Given the description of an element on the screen output the (x, y) to click on. 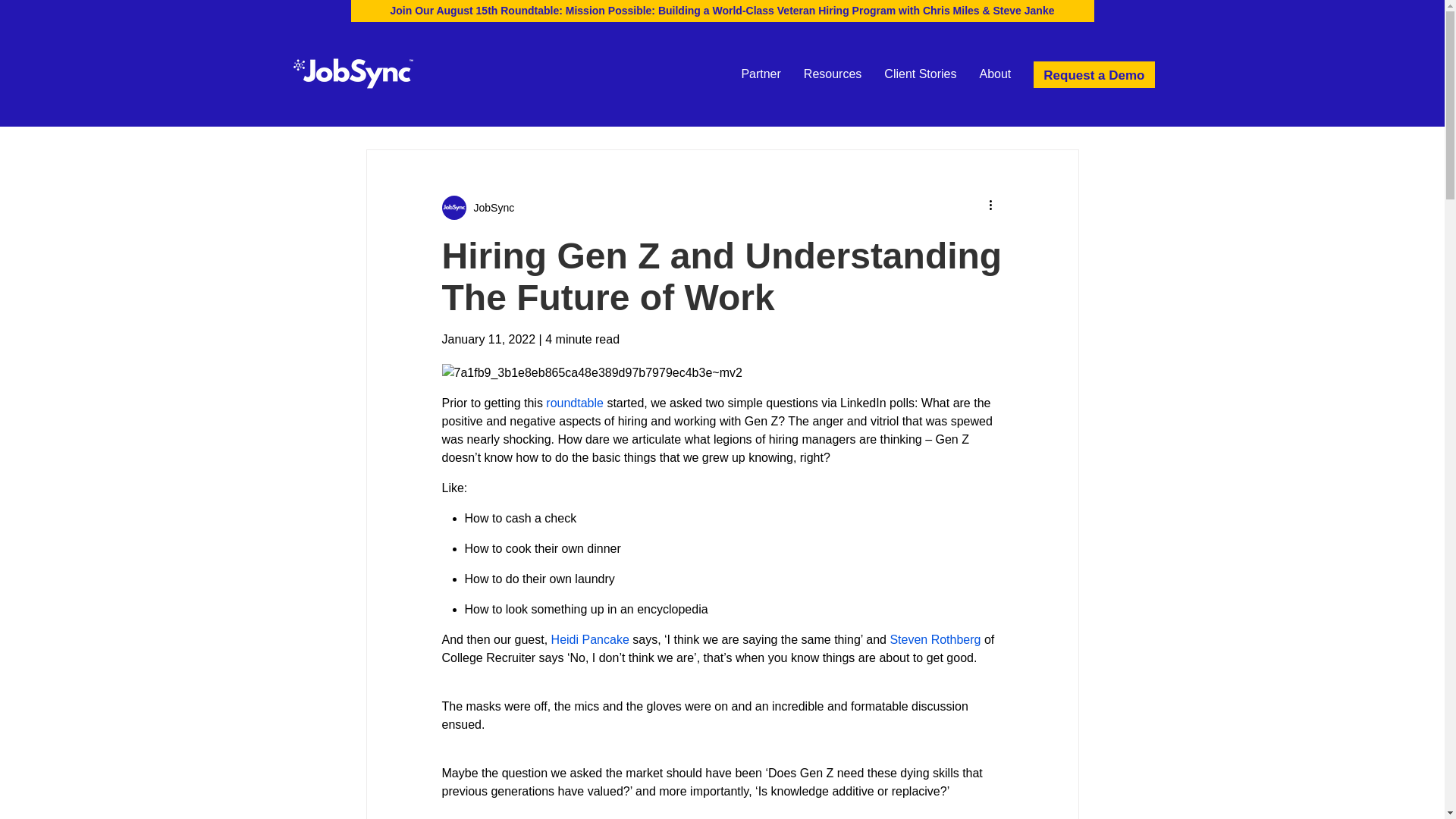
Resources (832, 74)
Client Stories (920, 74)
Partner (760, 74)
About (994, 74)
Request a Demo (1093, 73)
